Given the description of an element on the screen output the (x, y) to click on. 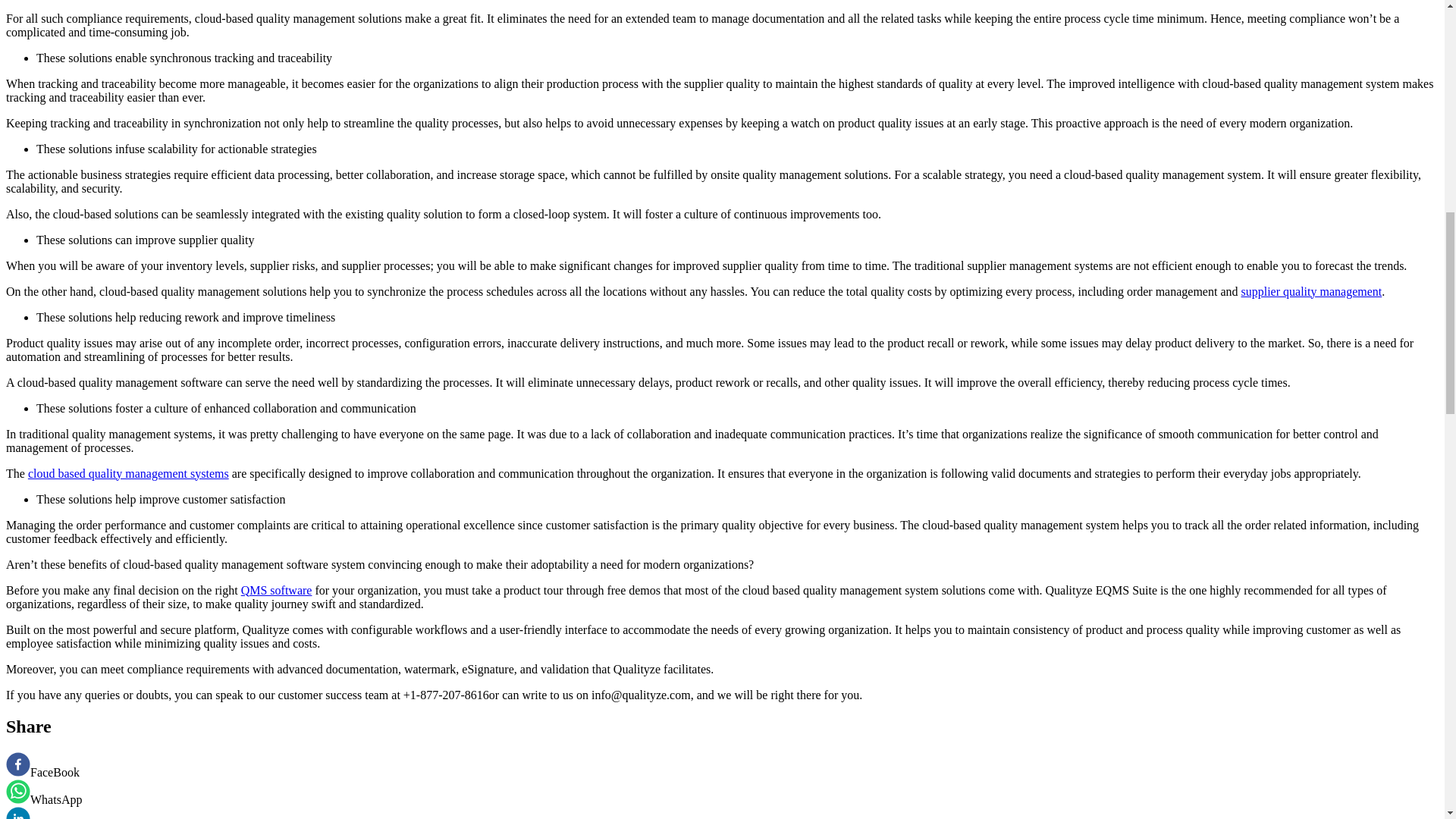
QMS software (277, 590)
supplier quality management (1310, 291)
cloud based quality management systems (127, 472)
